Given the description of an element on the screen output the (x, y) to click on. 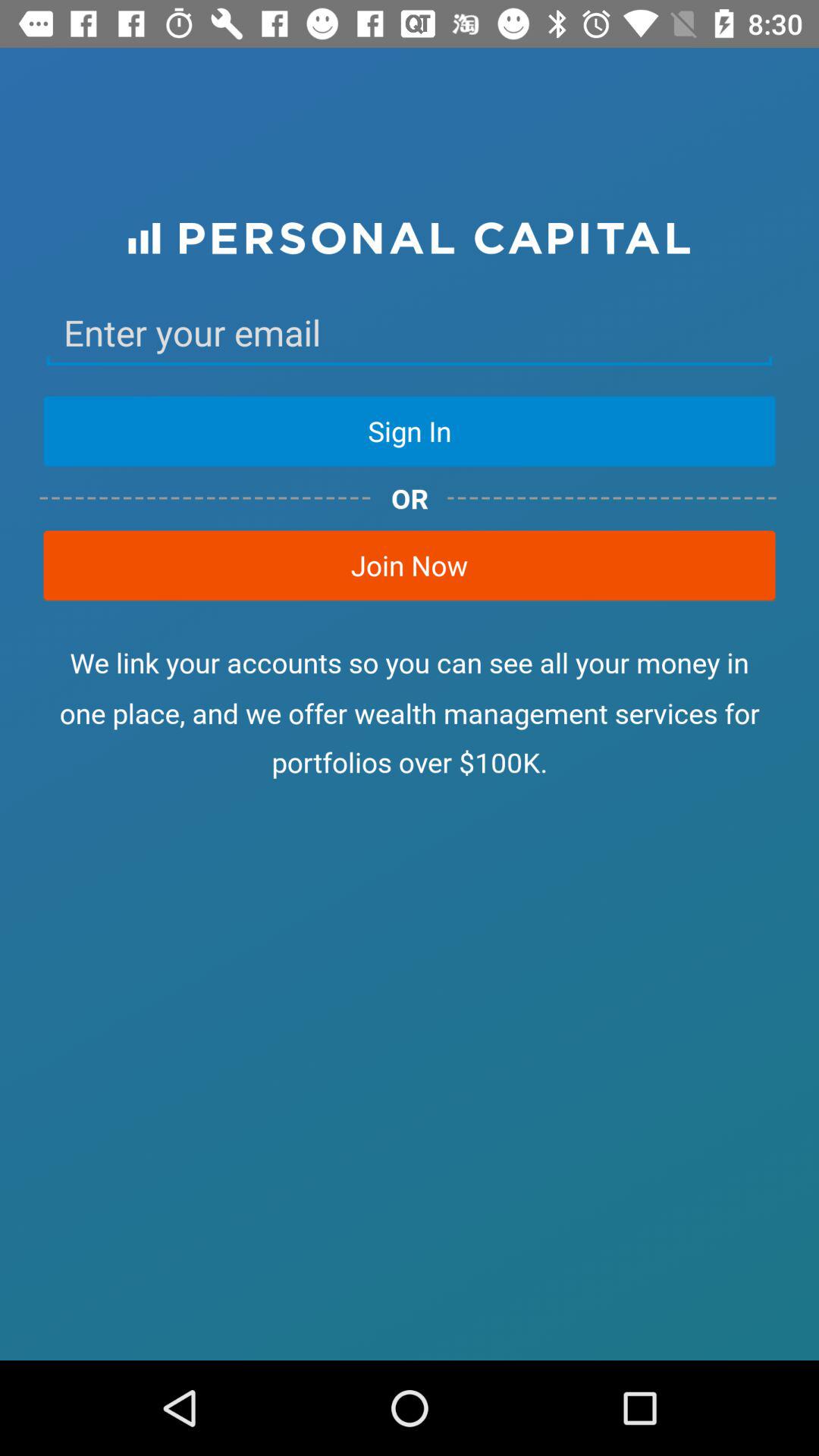
tap the icon above or (409, 430)
